Given the description of an element on the screen output the (x, y) to click on. 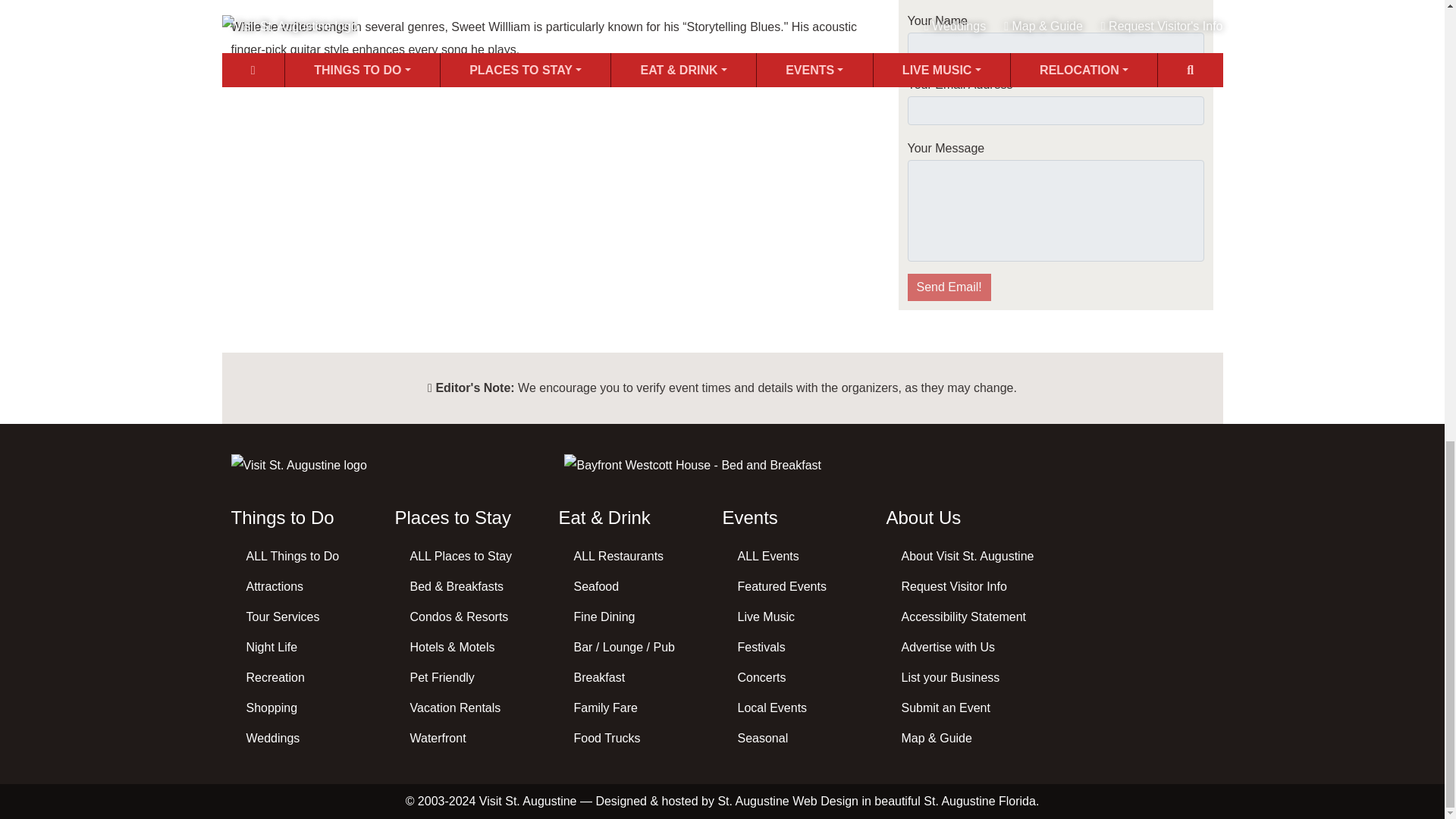
Send Email! (948, 287)
